Given the description of an element on the screen output the (x, y) to click on. 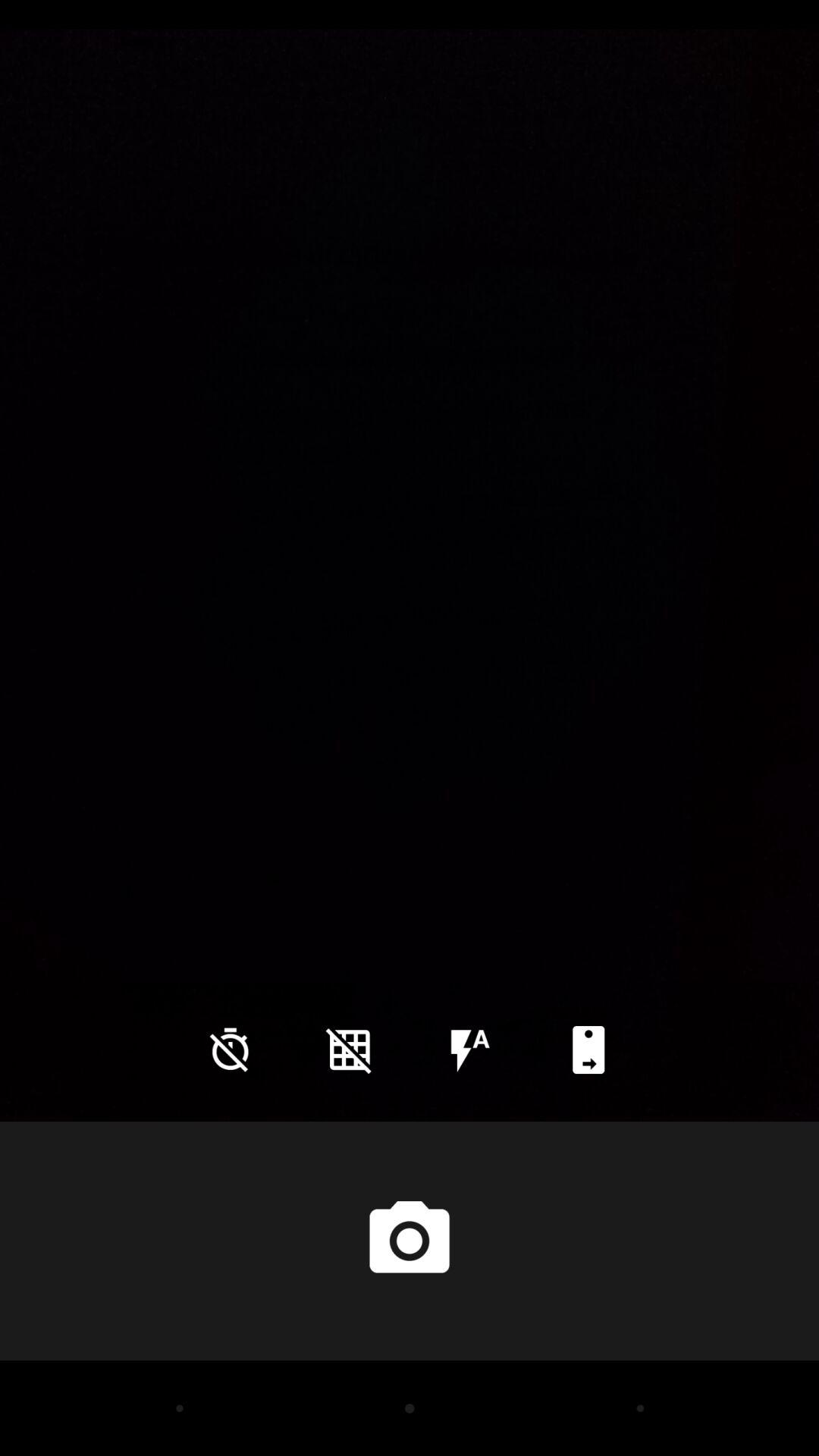
select the icon at the bottom left corner (230, 1049)
